Given the description of an element on the screen output the (x, y) to click on. 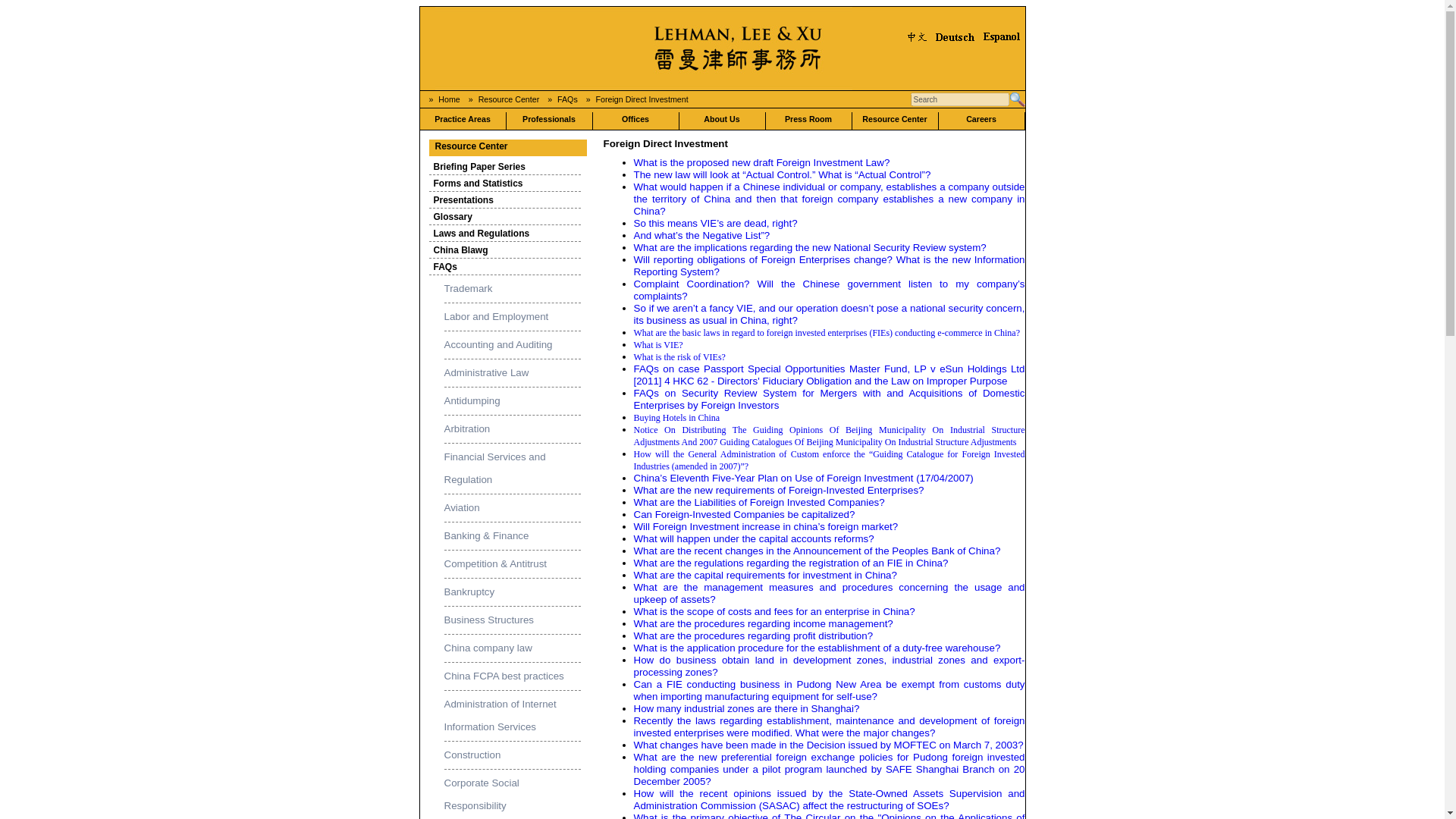
Submit (1017, 99)
Resource Center (509, 99)
Suchen (1017, 99)
Foreign Direct Investment (641, 99)
Practice Areas (462, 121)
FAQs (567, 99)
Search (959, 99)
Home (449, 99)
